Given the description of an element on the screen output the (x, y) to click on. 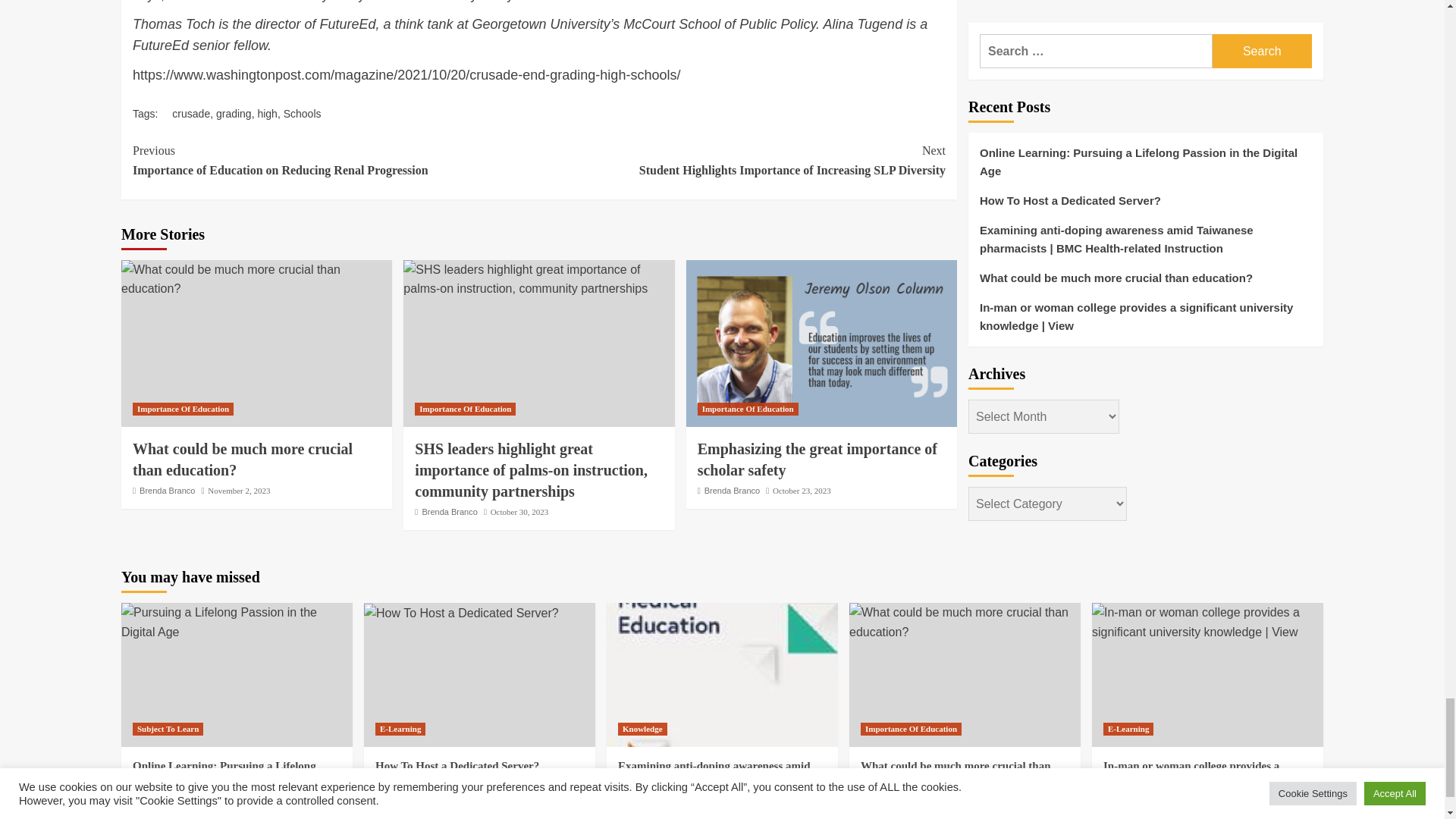
How To Host a Dedicated Server? (461, 613)
What could be much more crucial than education? (964, 621)
Emphasizing the great importance of scholar safety (820, 342)
Pursuing a Lifelong Passion in the Digital Age (236, 621)
What could be much more crucial than education? (255, 278)
